Given the description of an element on the screen output the (x, y) to click on. 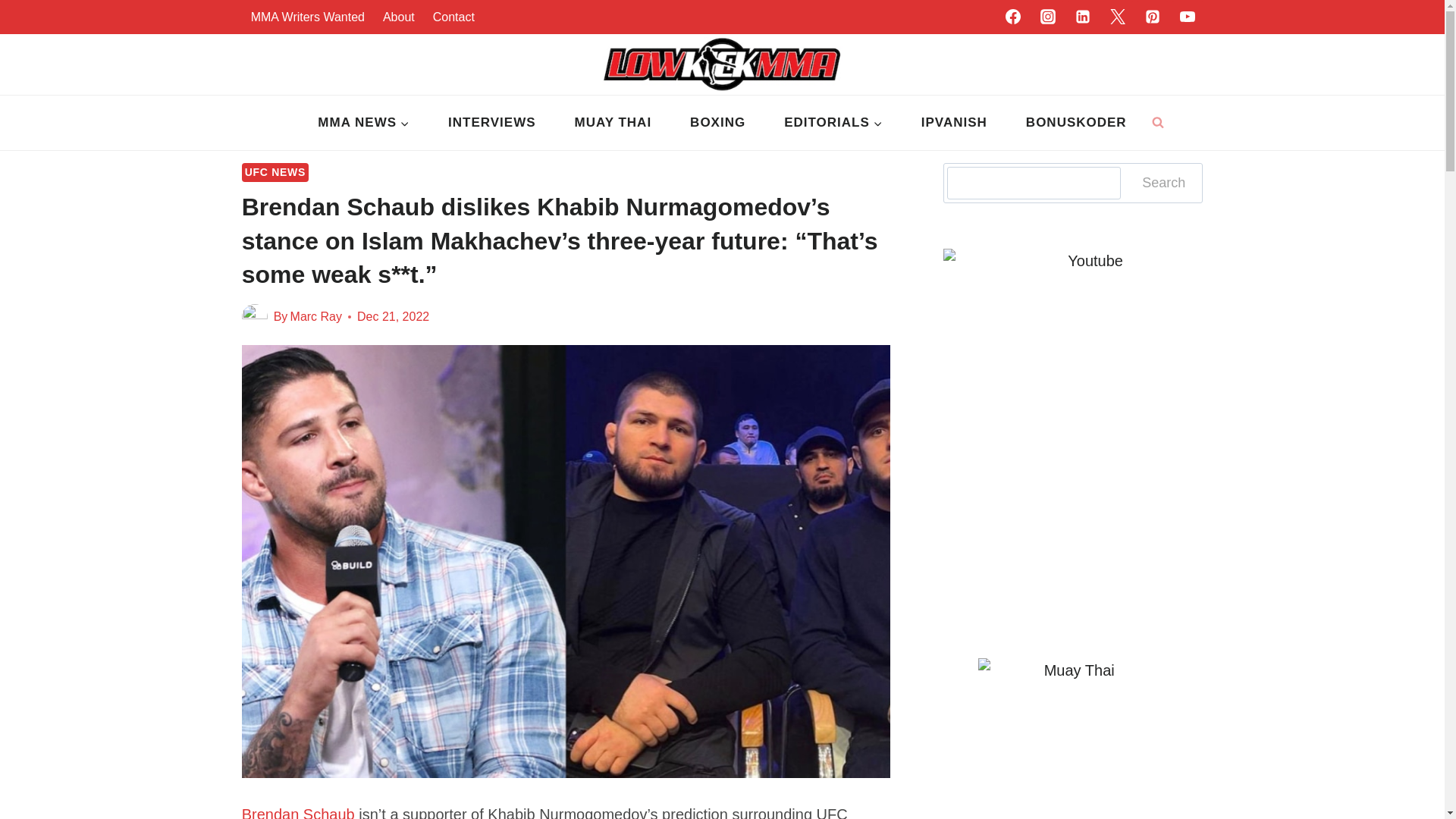
MMA NEWS (363, 122)
BOXING (718, 122)
BONUSKODER (1075, 122)
MMA Writers Wanted (307, 17)
About (398, 17)
MUAY THAI (612, 122)
EDITORIALS (833, 122)
Contact (453, 17)
INTERVIEWS (491, 122)
IPVANISH (953, 122)
